Given the description of an element on the screen output the (x, y) to click on. 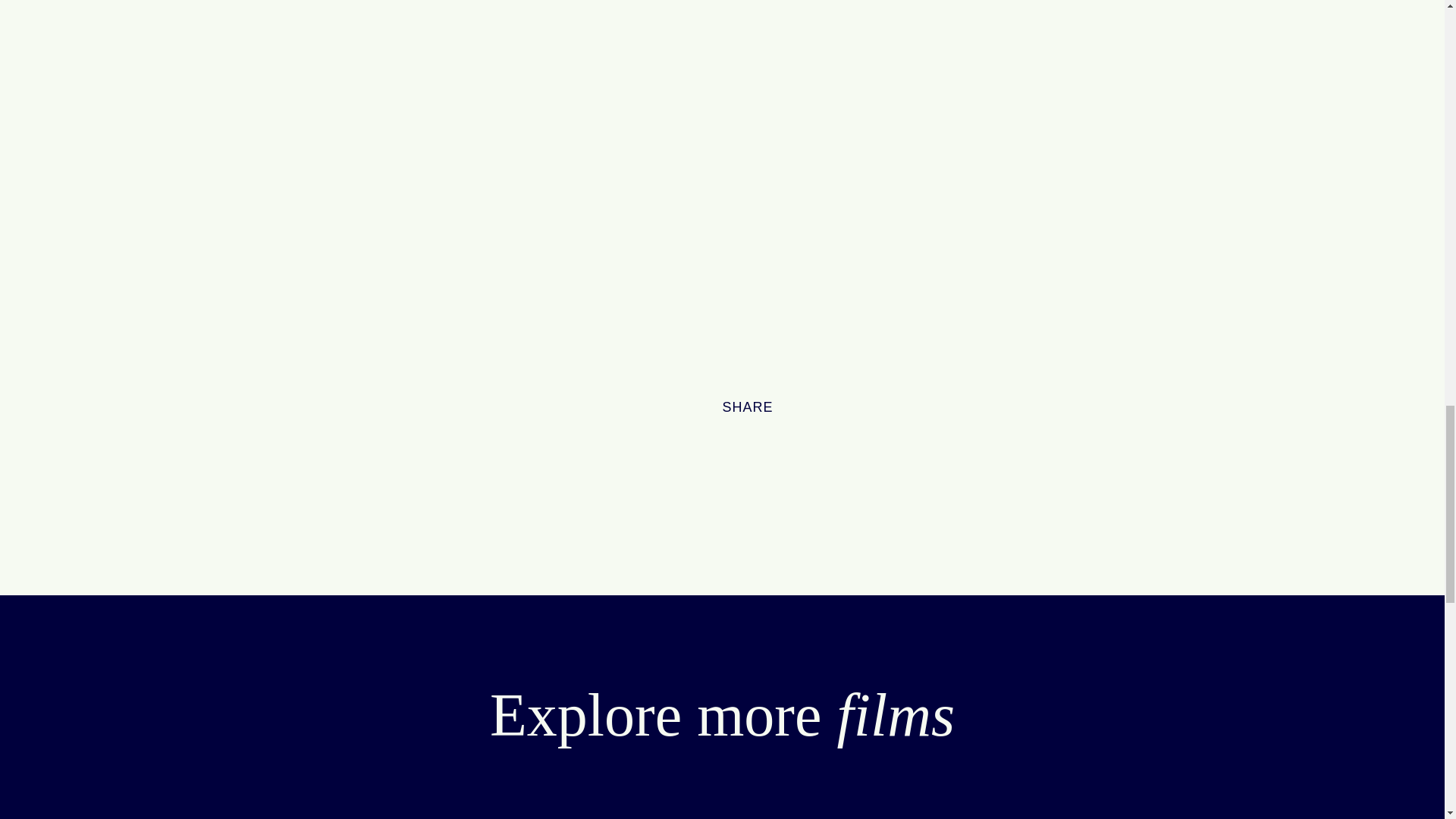
Explore more films (721, 715)
